Given the description of an element on the screen output the (x, y) to click on. 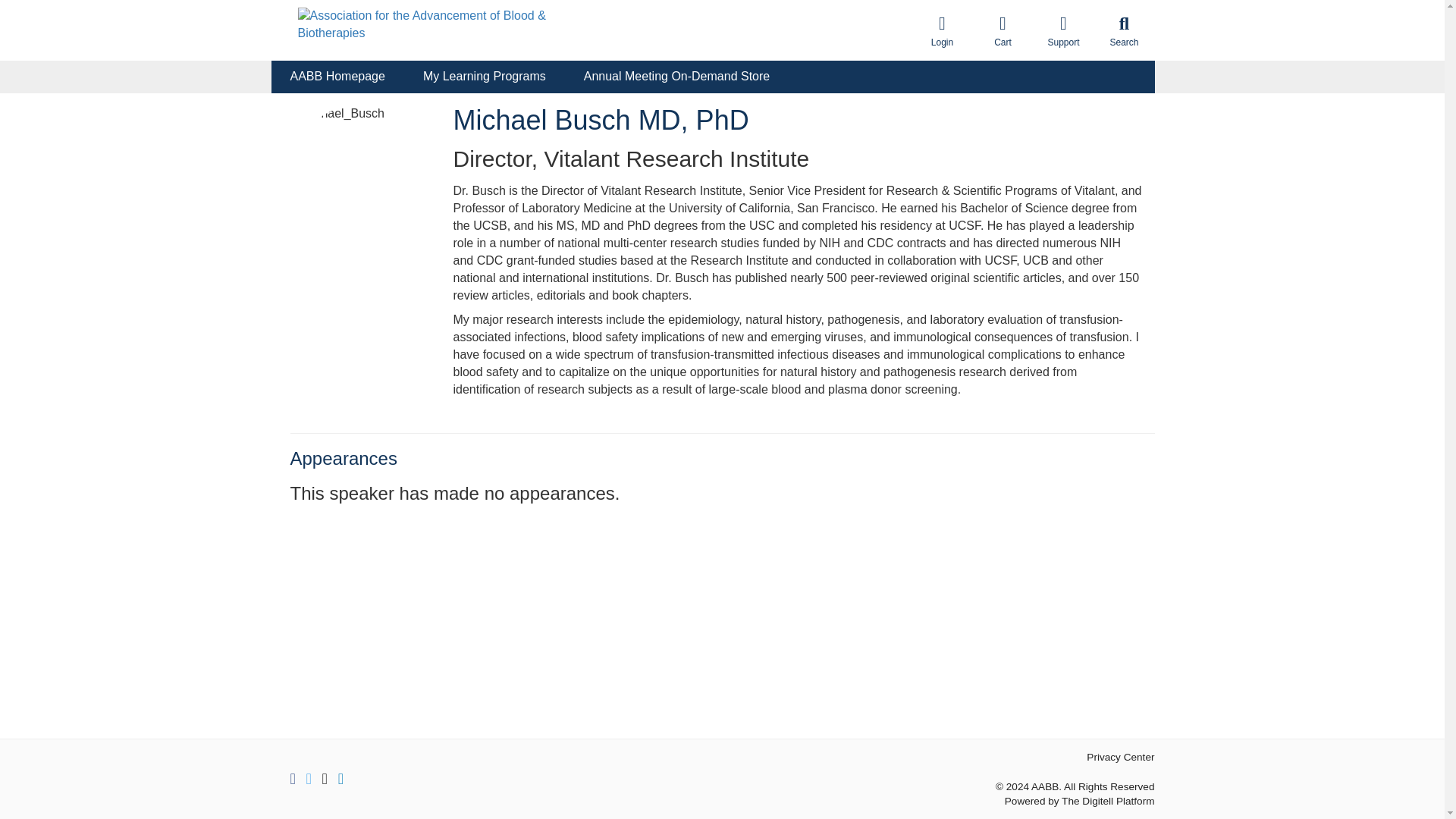
Login (941, 30)
Cart (1002, 30)
My Learning Programs (484, 76)
Privacy Center (1120, 756)
AABB Homepage (337, 76)
Login (941, 30)
Support (1062, 30)
Search (1123, 30)
Cart (1002, 30)
Search (1123, 30)
